Given the description of an element on the screen output the (x, y) to click on. 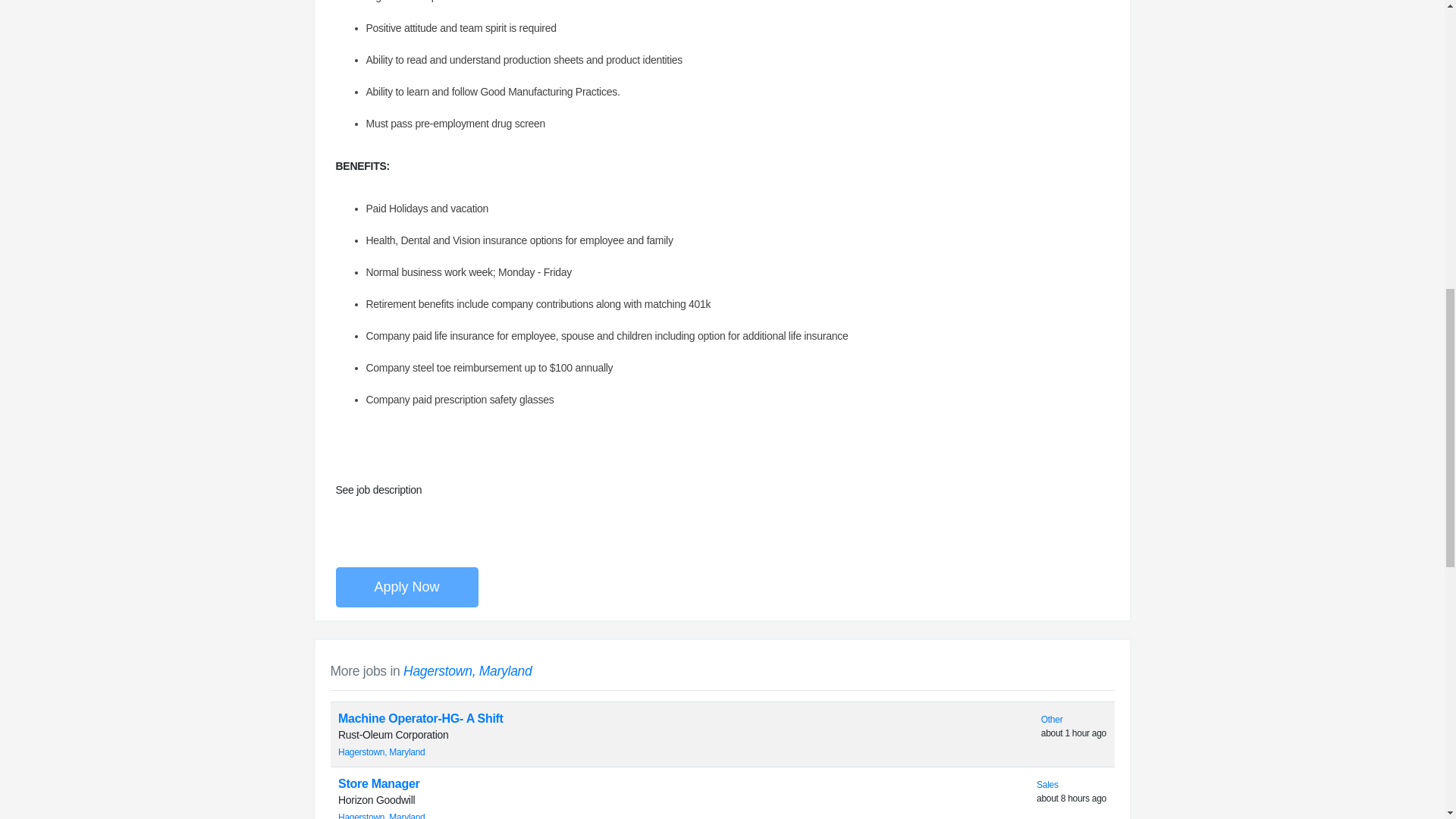
Apply Now (405, 587)
Hagerstown, Maryland (467, 670)
Machine Operator-HG- A Shift (420, 717)
Sales (1047, 784)
Other (1051, 719)
Hagerstown, Maryland (381, 751)
Hagerstown, Maryland (381, 815)
Store Manager (378, 783)
